Given the description of an element on the screen output the (x, y) to click on. 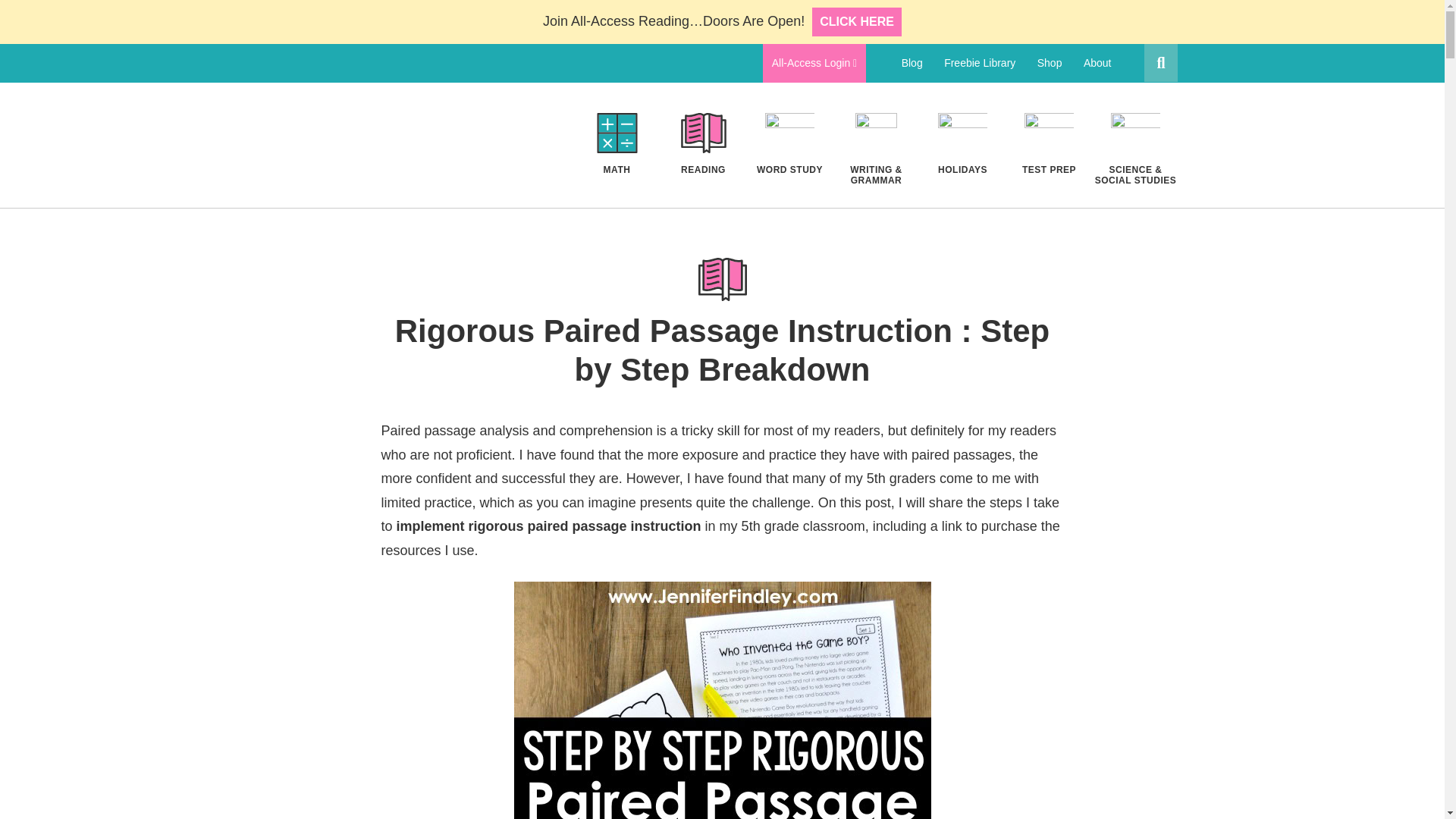
Reading (702, 144)
TEST PREP (1048, 144)
Scroll to Top (1408, 782)
Math (616, 144)
All-Access Login (814, 63)
HOLIDAYS (962, 144)
Freebie Library (979, 62)
Test Prep (1048, 144)
WORD STUDY (789, 144)
